Given the description of an element on the screen output the (x, y) to click on. 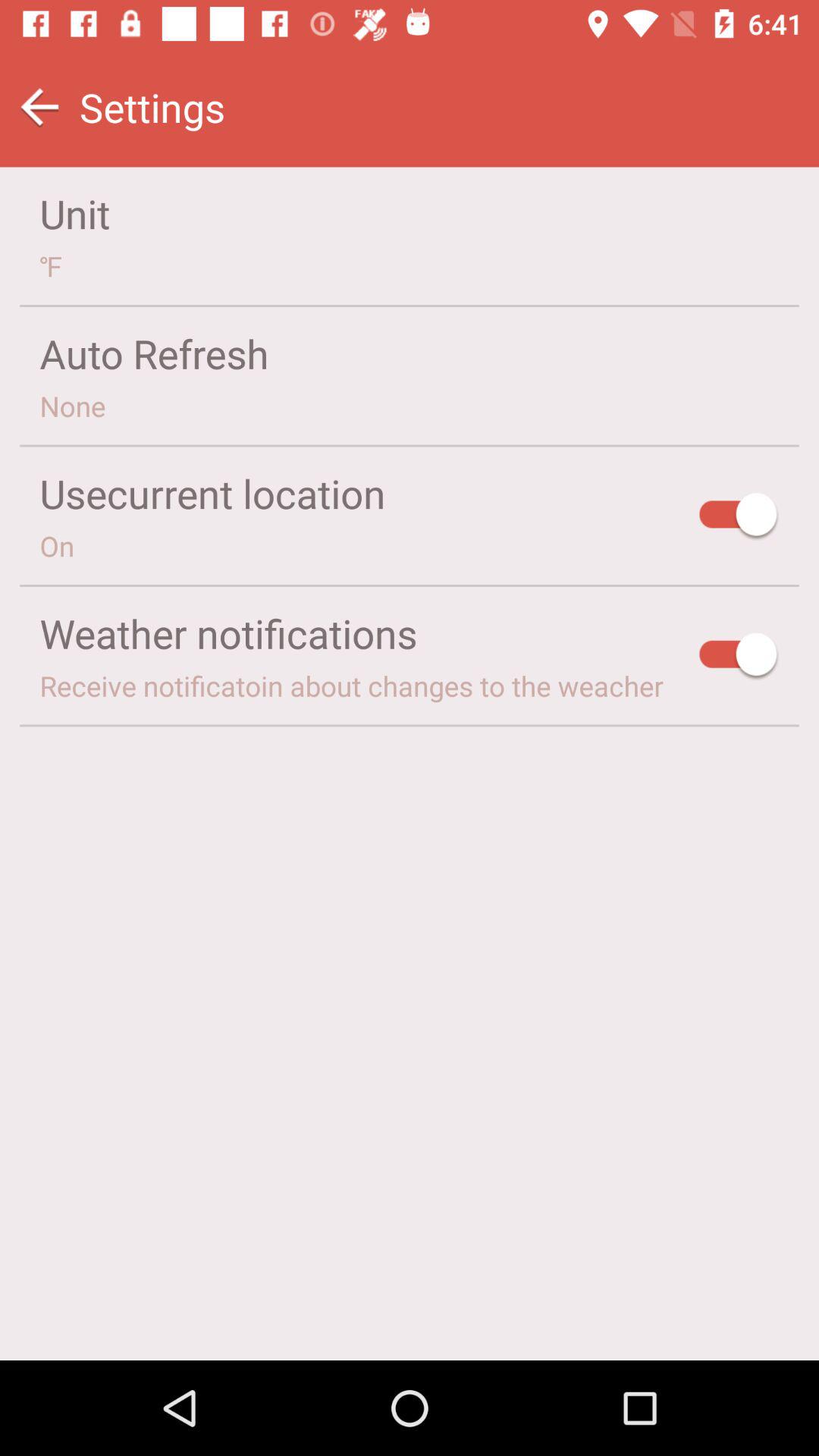
turn on icon above the unit item (39, 107)
